Given the description of an element on the screen output the (x, y) to click on. 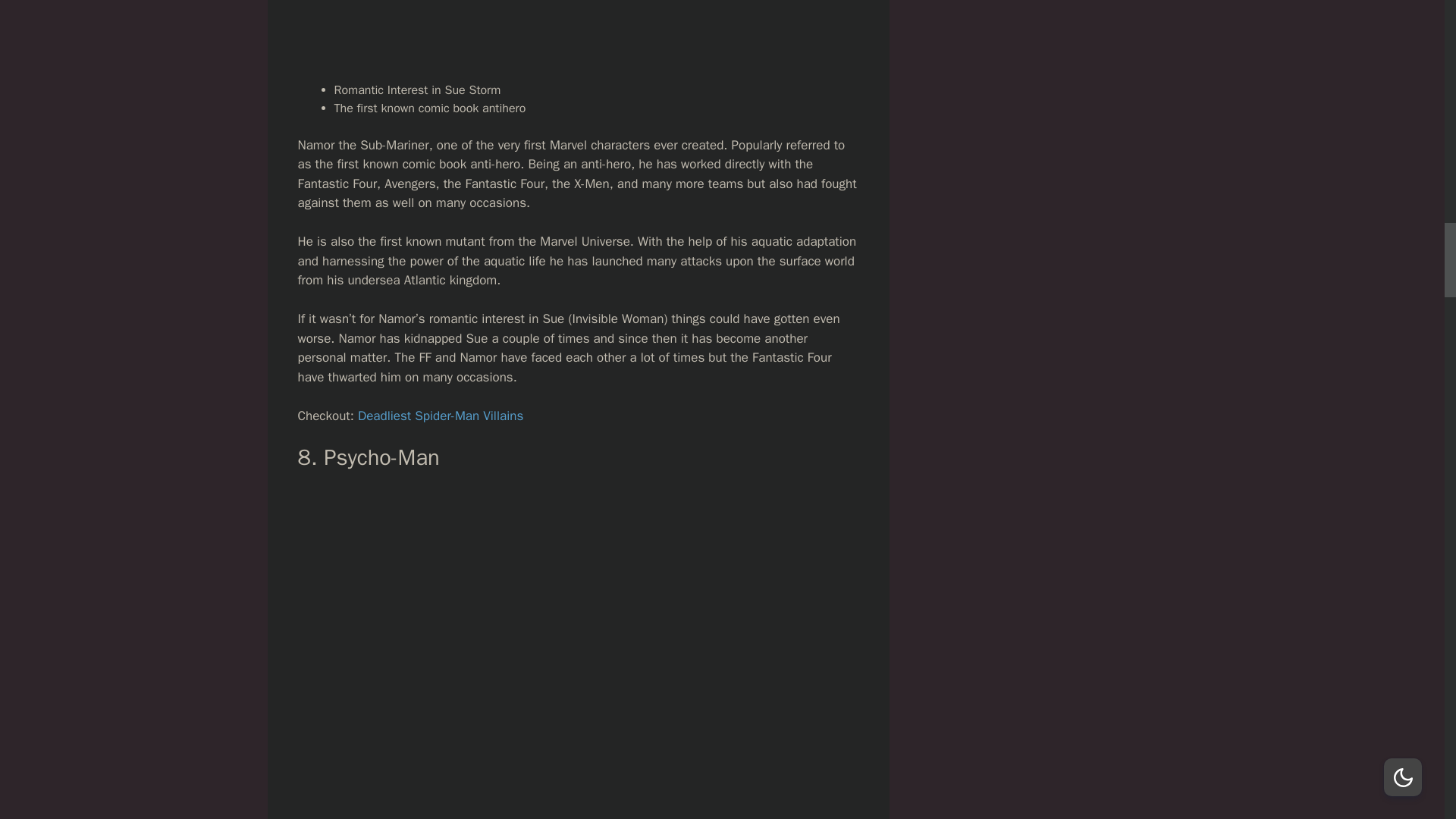
Deadliest Spider-Man Villains (440, 415)
